Given the description of an element on the screen output the (x, y) to click on. 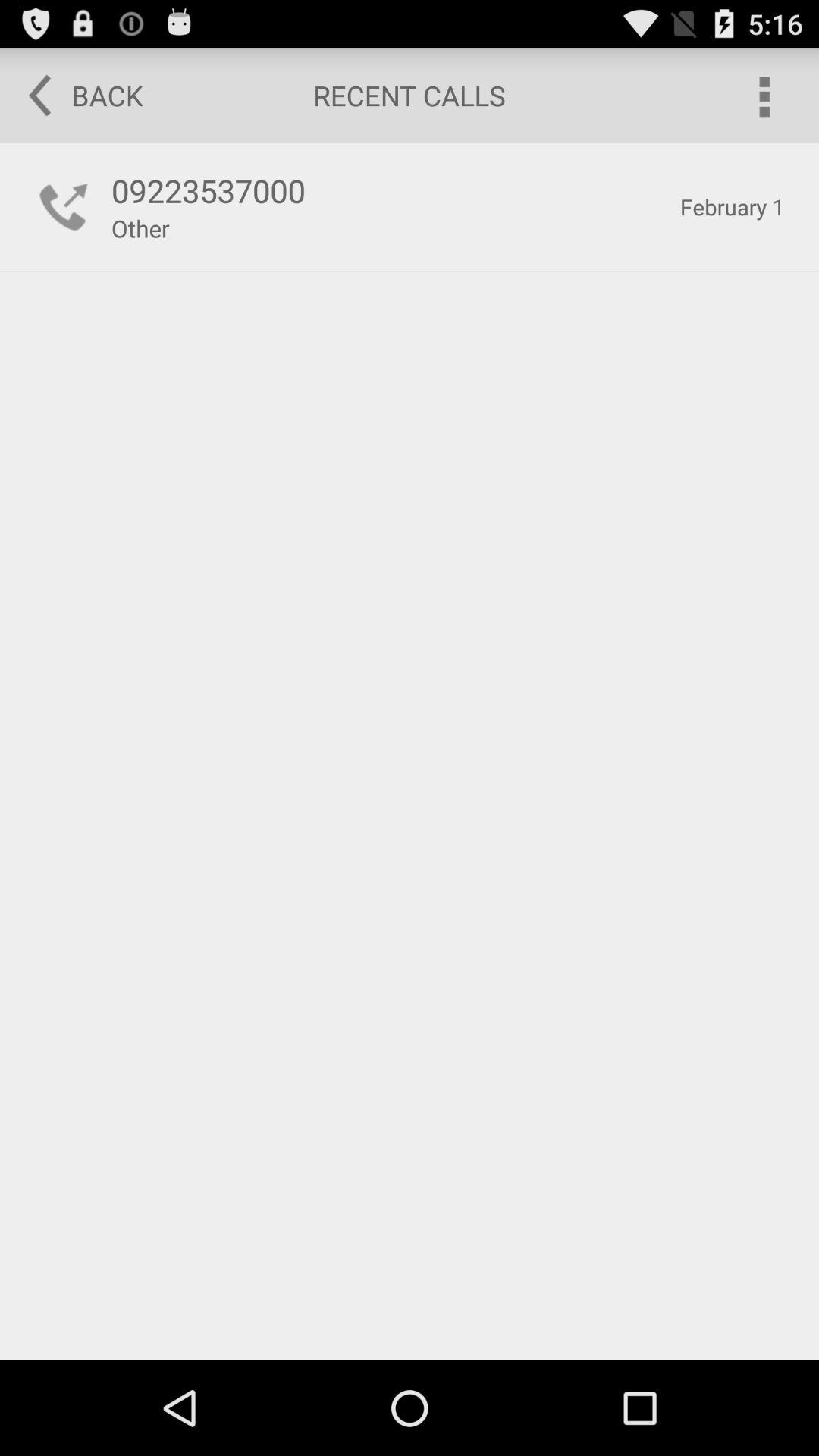
choose the other icon (140, 228)
